Given the description of an element on the screen output the (x, y) to click on. 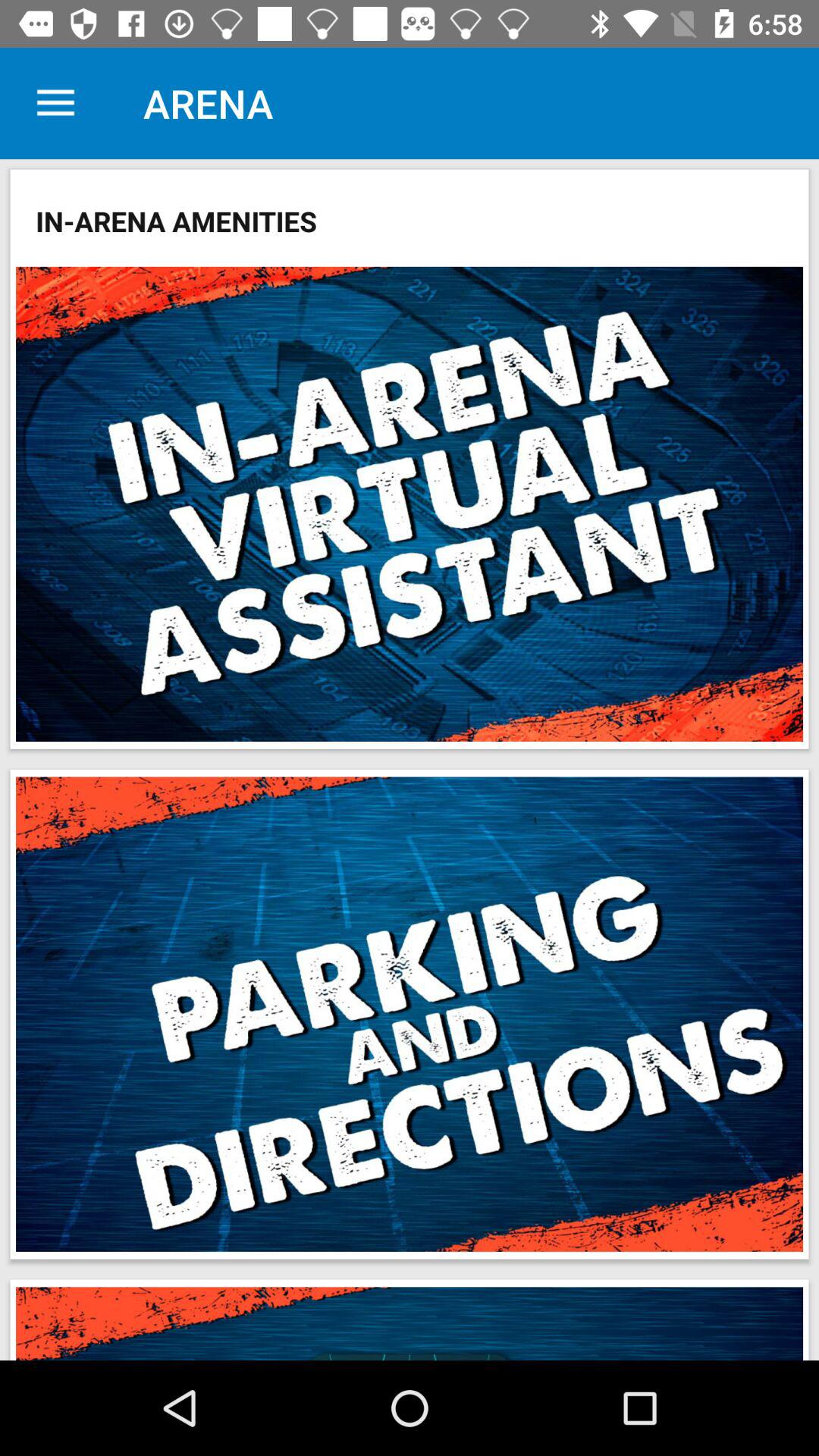
turn off the icon to the left of the arena icon (55, 103)
